Given the description of an element on the screen output the (x, y) to click on. 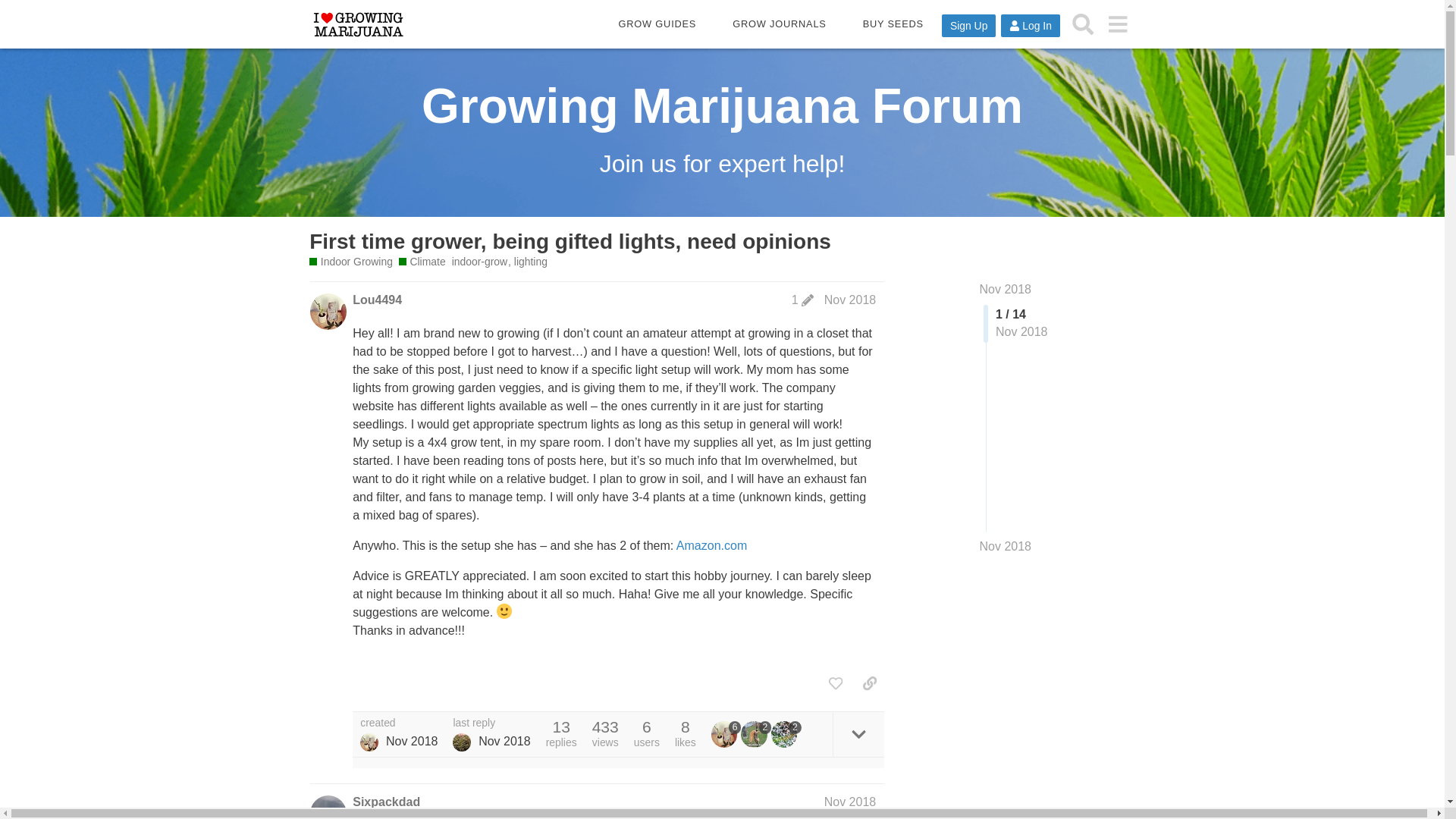
menu (1117, 23)
Sign Up (968, 25)
GROW JOURNALS (778, 24)
Nov 2018 (850, 299)
2 (786, 733)
BUY SEEDS (893, 24)
Sixpackdad (386, 801)
Lou4494 (368, 742)
GROW GUIDES (658, 24)
First time grower, being gifted lights, need opinions (569, 241)
post last edited on Nov 21, 2018 5:23 am (802, 300)
GROW JOURNALS (778, 24)
6 (726, 733)
Nov 2018 (1005, 546)
1 (802, 300)
